Given the description of an element on the screen output the (x, y) to click on. 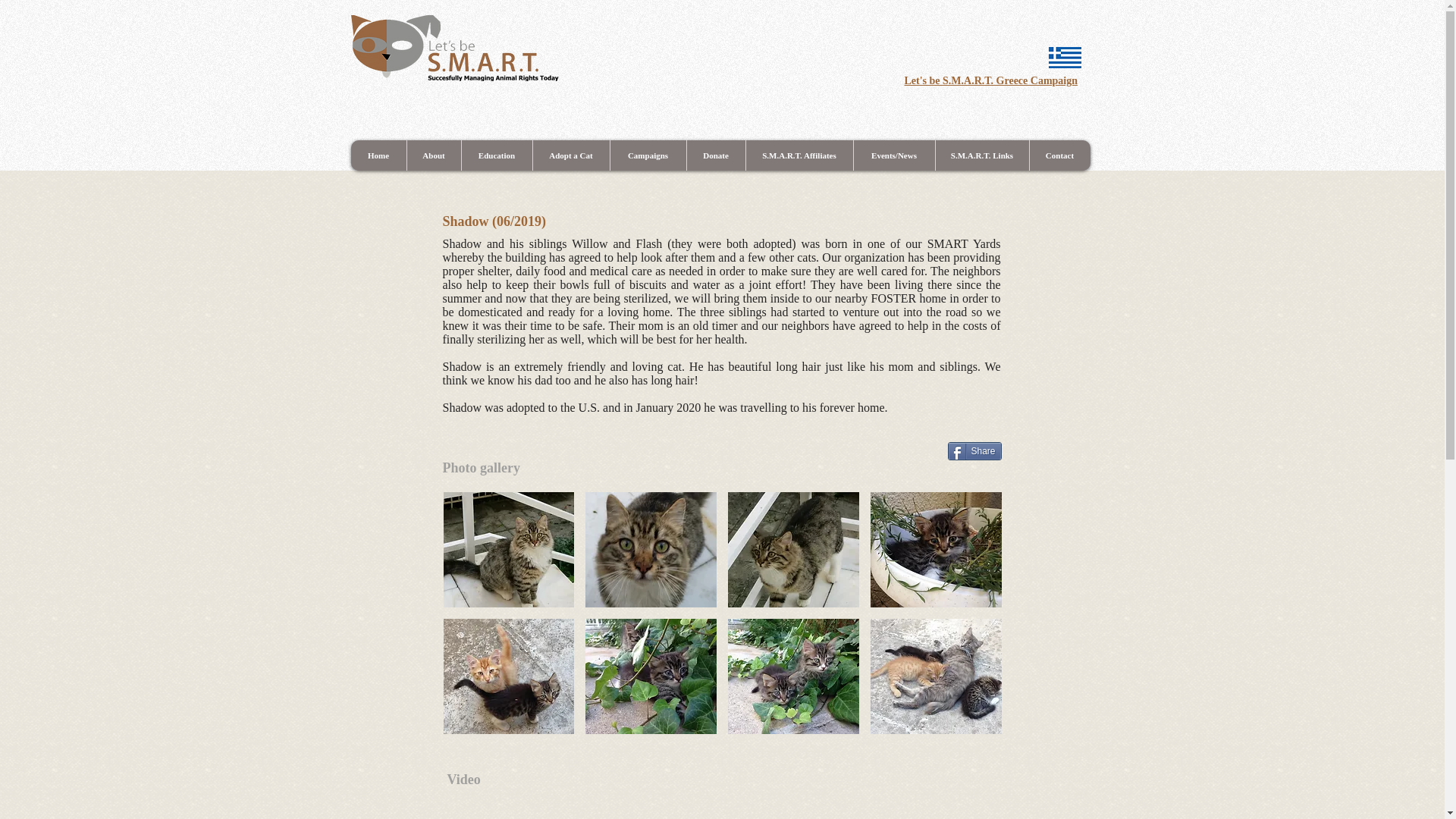
Campaigns (647, 155)
About (433, 155)
Donate (714, 155)
Education (496, 155)
Share (974, 451)
Let's be S.M.A.R.T. Greece Campaign (990, 80)
S.M.A.R.T. Links (980, 155)
S.M.A.R.T. Affiliates (797, 155)
Adopt a Cat (571, 155)
Home (378, 155)
